Given the description of an element on the screen output the (x, y) to click on. 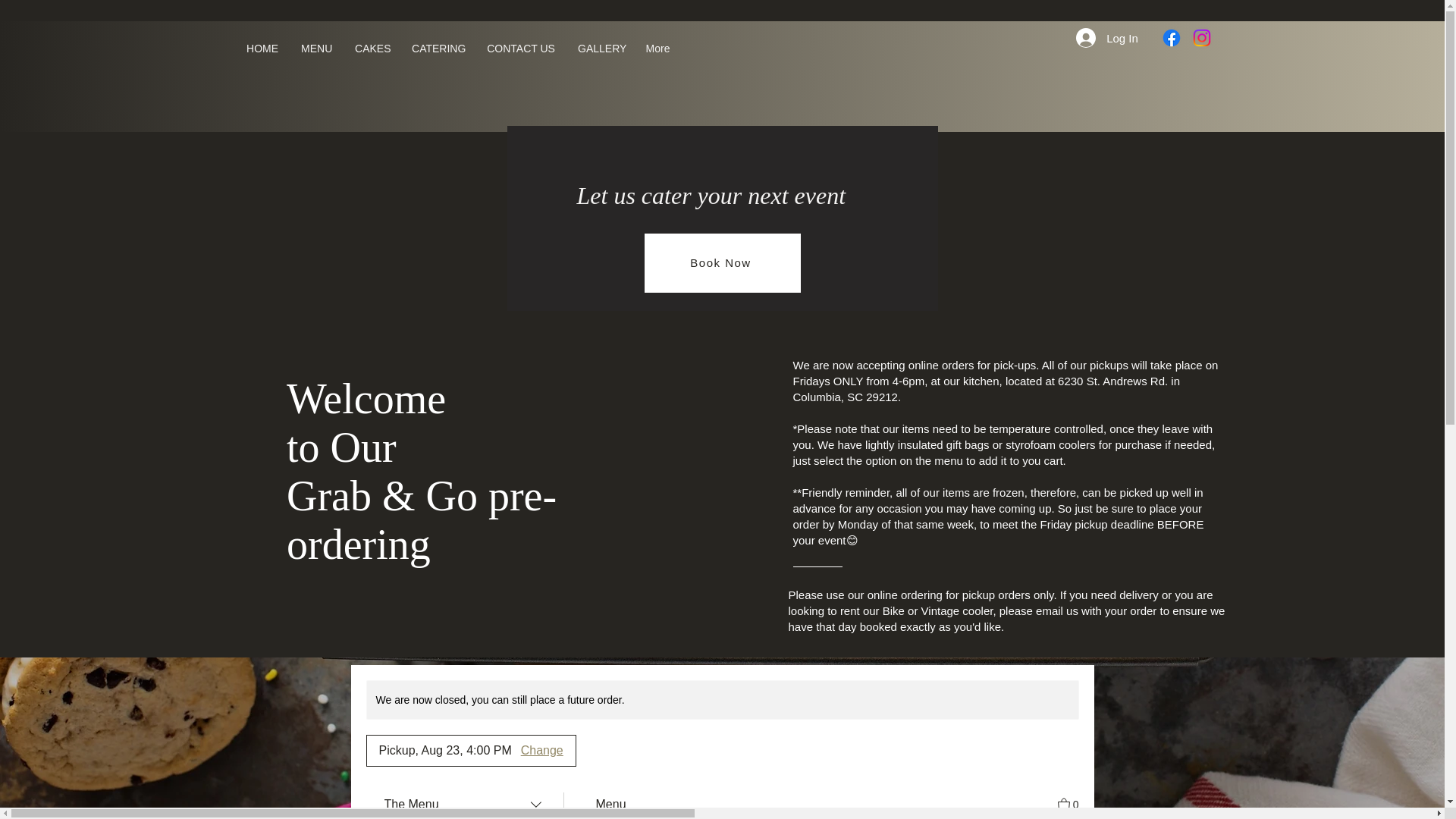
CAKES (371, 48)
Log In (1095, 37)
HOME (261, 48)
0 (1068, 803)
CATERING (438, 48)
CONTACT US (521, 48)
GALLERY (599, 48)
Change (542, 751)
Book Now (722, 262)
The Menu (463, 804)
